Given the description of an element on the screen output the (x, y) to click on. 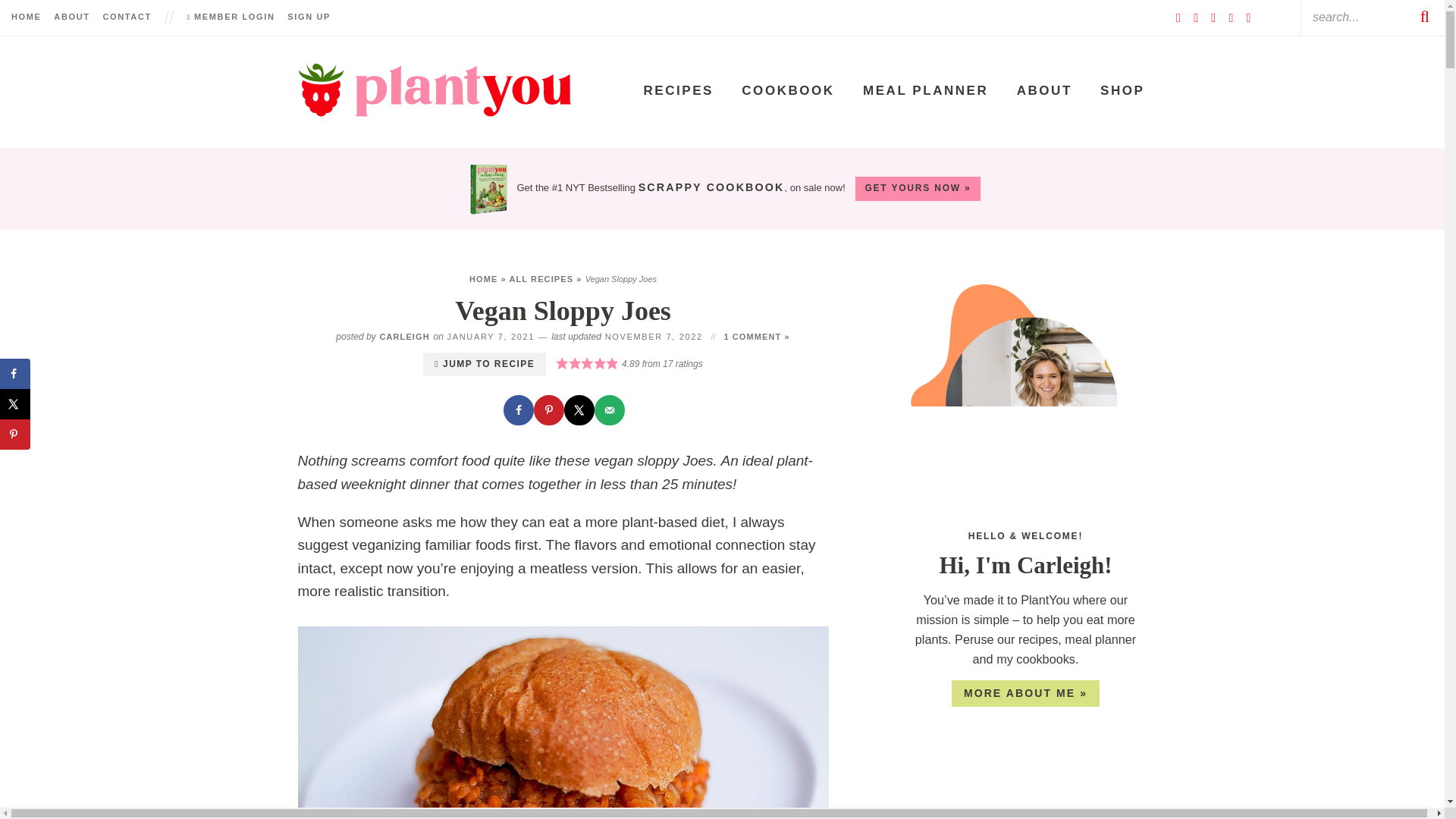
Send over email (609, 409)
JUMP TO RECIPE (484, 363)
CONTACT (126, 16)
CARLEIGH (403, 336)
MEAL PLANNER (924, 90)
ABOUT (1044, 90)
RECIPES (678, 90)
Share on X (579, 409)
ABOUT (70, 16)
Share on Facebook (15, 372)
